Given the description of an element on the screen output the (x, y) to click on. 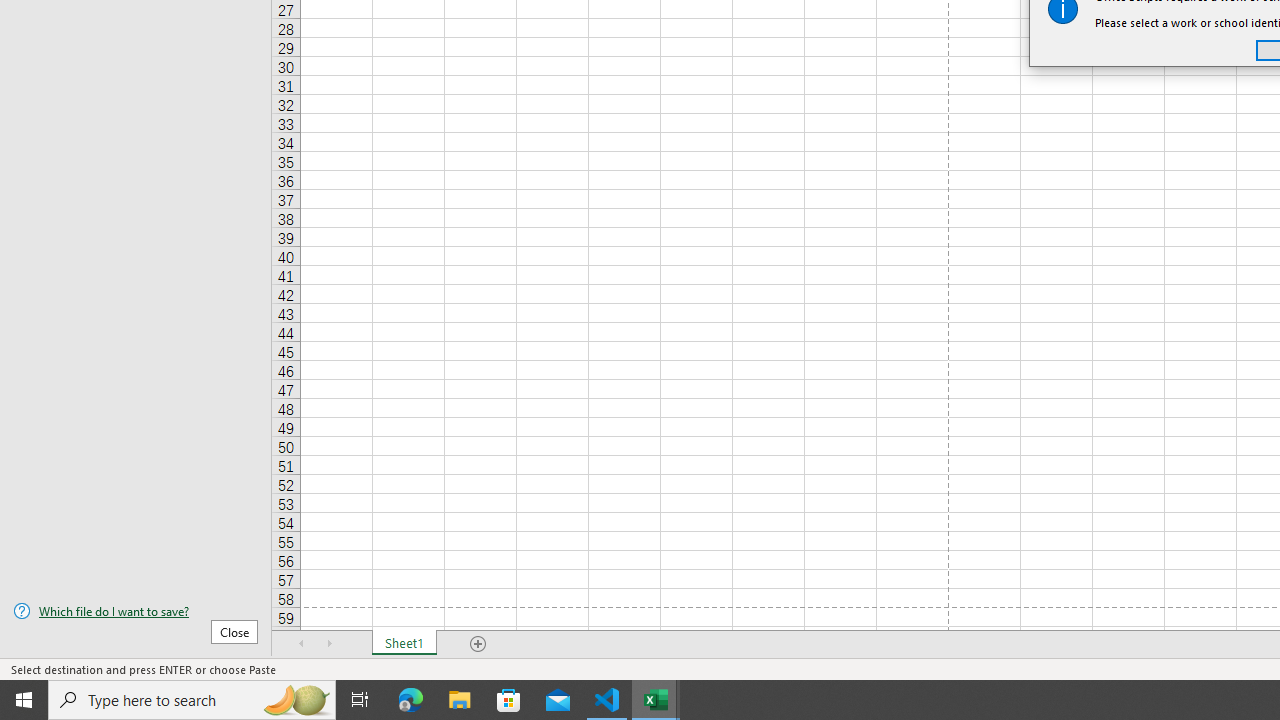
Search highlights icon opens search home window (295, 699)
